Given the description of an element on the screen output the (x, y) to click on. 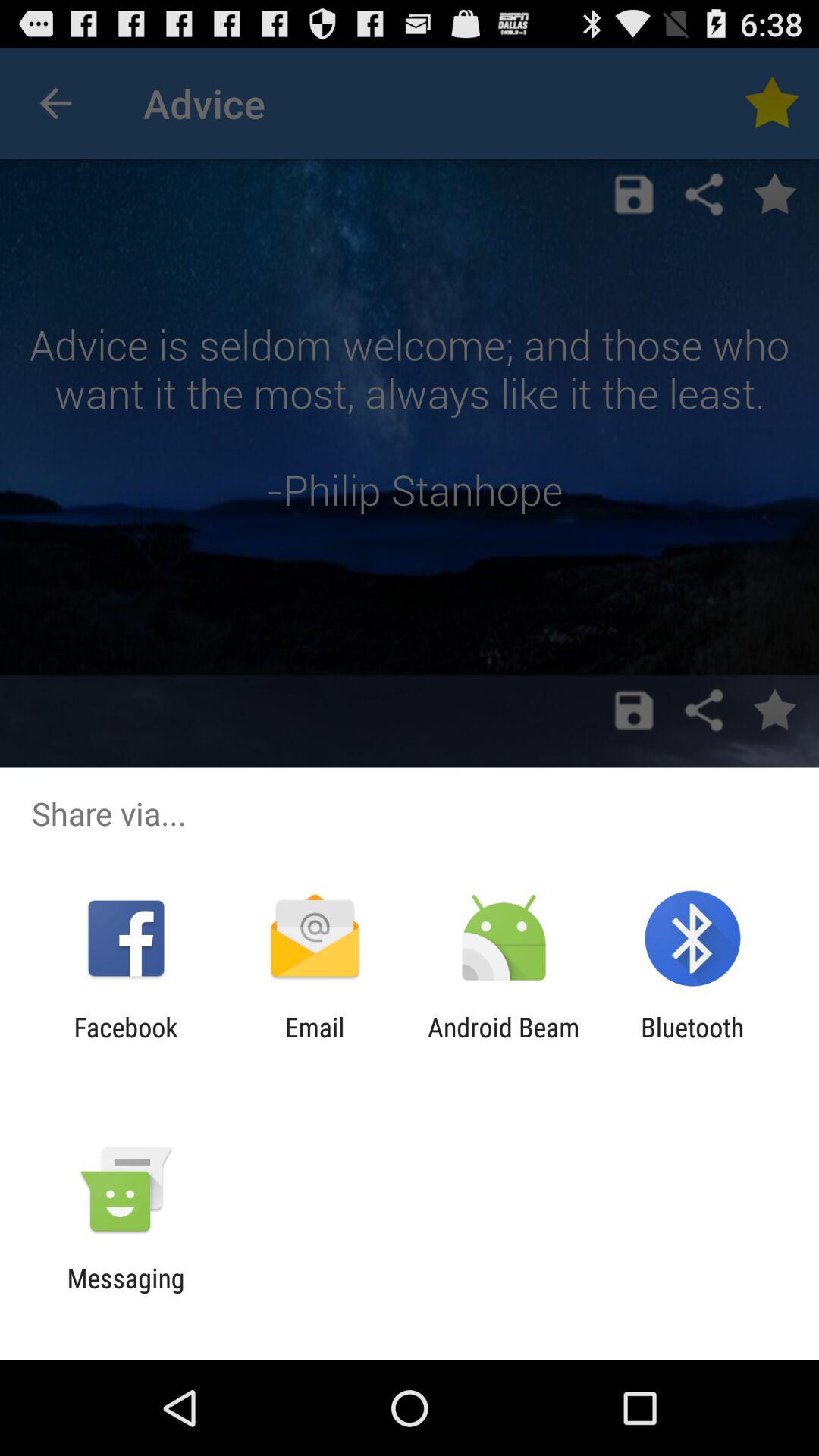
flip to the facebook icon (125, 1042)
